Given the description of an element on the screen output the (x, y) to click on. 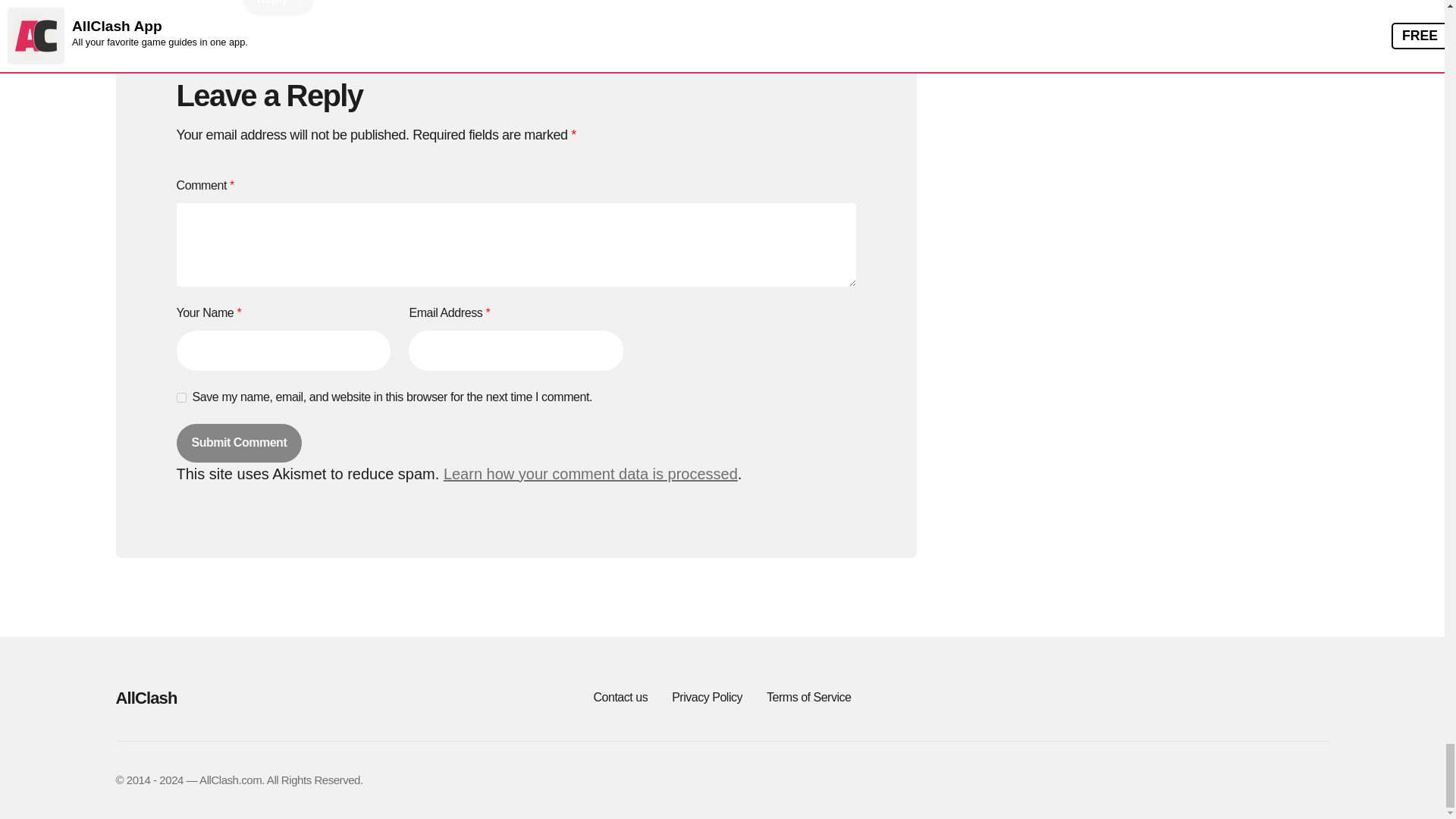
yes (181, 397)
